Given the description of an element on the screen output the (x, y) to click on. 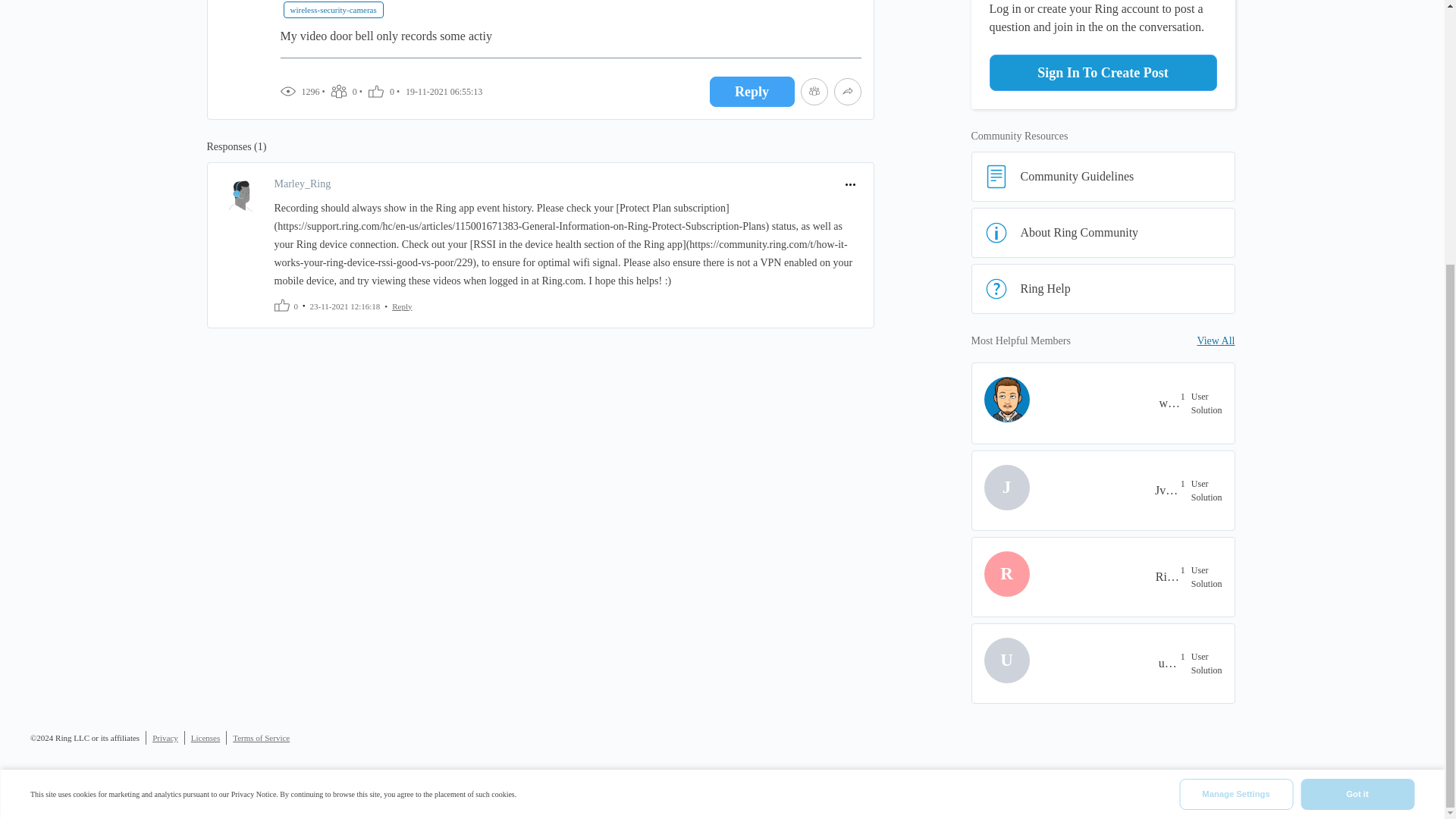
J (1040, 487)
R (1040, 573)
About Ring Community (1102, 232)
Reply (752, 91)
View All (1215, 341)
Ring Help (1102, 288)
Jventerprises (1167, 490)
windracer (1168, 402)
Reply (401, 305)
Community Guidelines (1102, 176)
Sign In To Create Post (1101, 72)
